Given the description of an element on the screen output the (x, y) to click on. 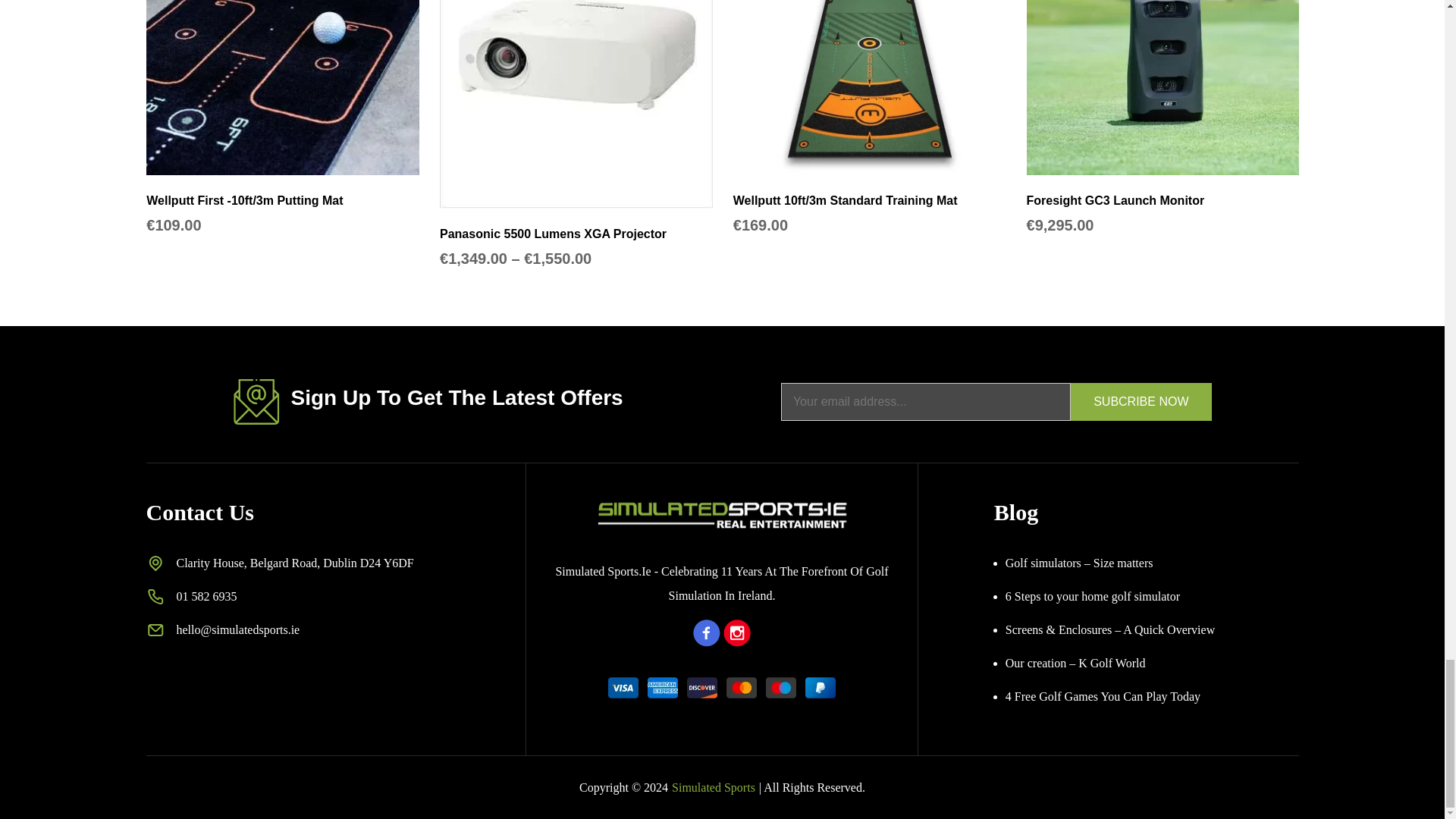
SUBCRIBE NOW (1140, 401)
